Given the description of an element on the screen output the (x, y) to click on. 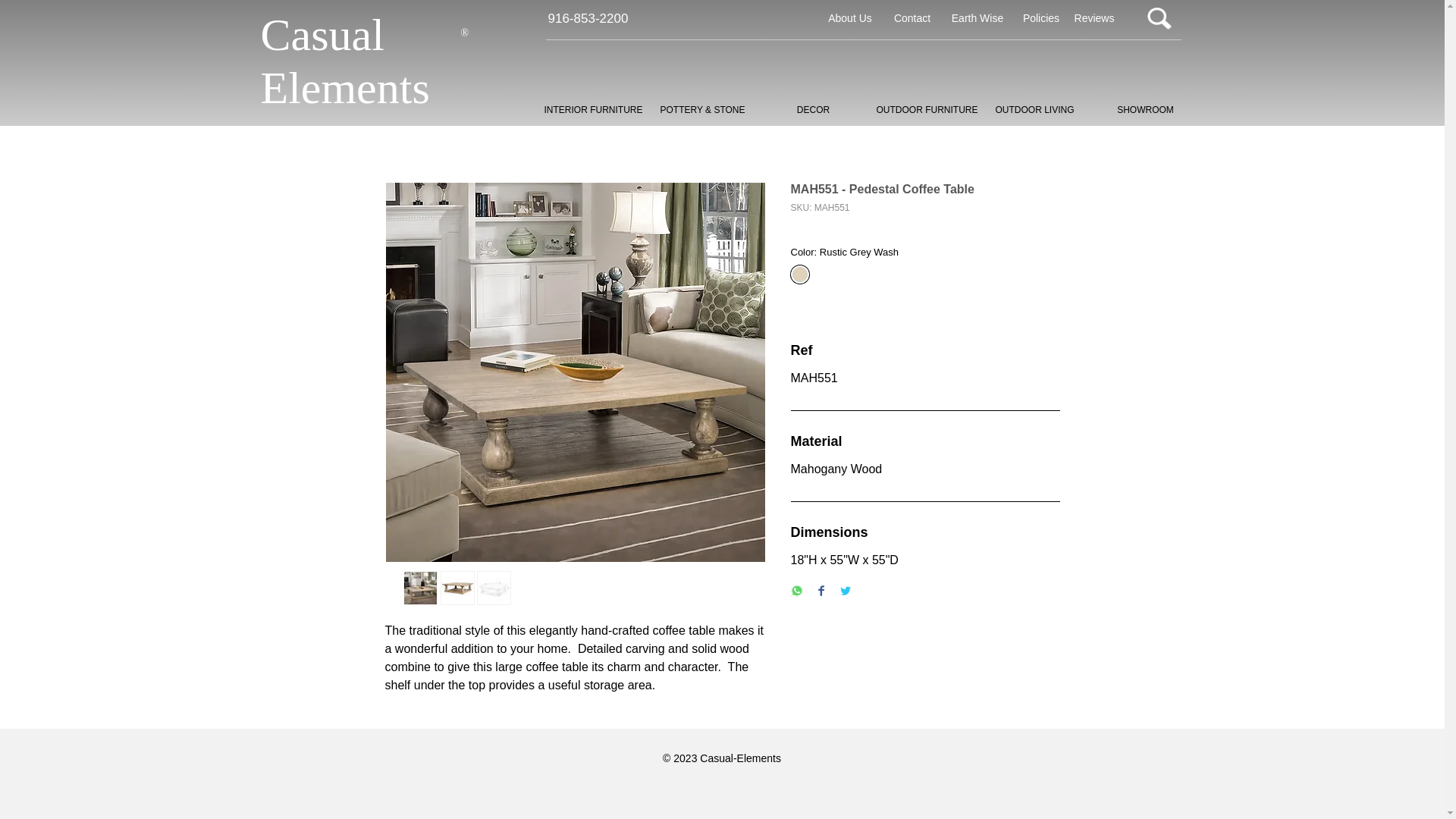
SHOWROOM (1145, 109)
Reviews (1094, 18)
OUTDOOR FURNITURE (924, 109)
OUTDOOR LIVING (1034, 109)
Casual Elements (344, 61)
Contact  (913, 18)
Policies (1041, 18)
DECOR (813, 109)
About Us (850, 18)
Earth Wise (977, 18)
INTERIOR FURNITURE (592, 109)
